Given the description of an element on the screen output the (x, y) to click on. 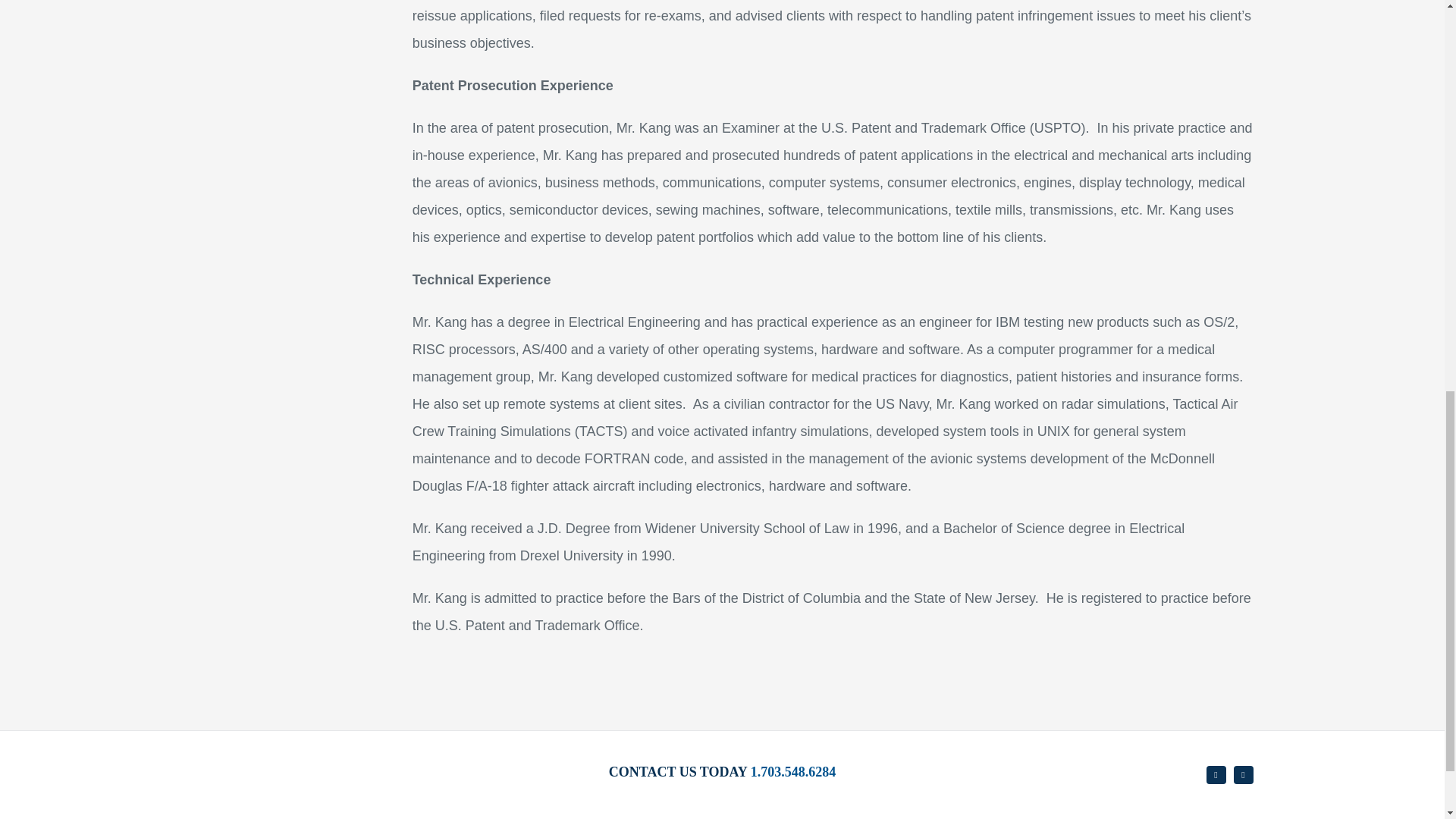
YouTube (1216, 774)
NGM-logo-final-RGB-med web footer (283, 781)
LinkedIn (1243, 774)
